Given the description of an element on the screen output the (x, y) to click on. 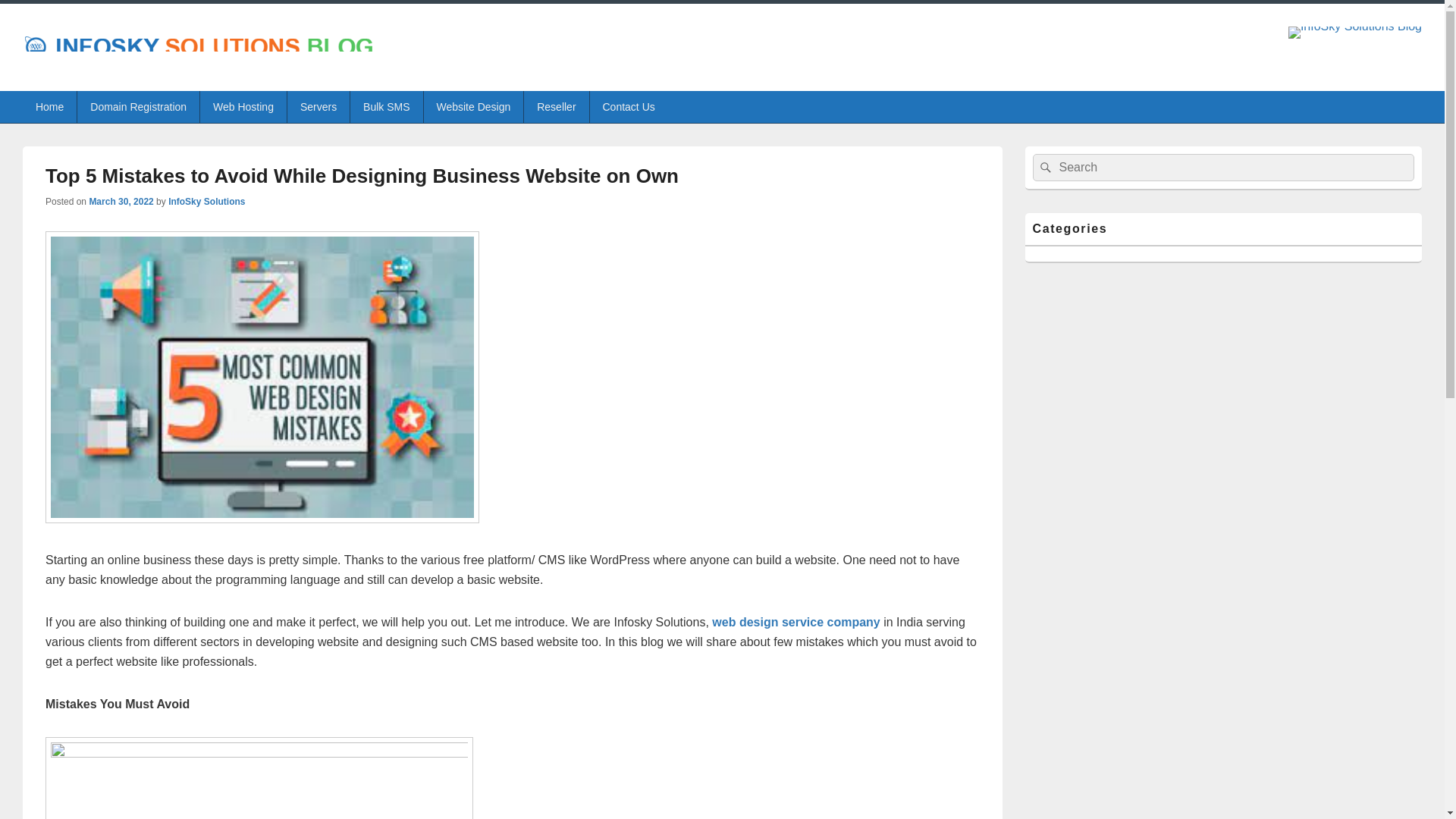
Web Hosting (243, 106)
Bulk SMS (386, 106)
5:30 am (120, 201)
Servers (317, 106)
Reseller (556, 106)
View all posts by InfoSky Solutions (206, 201)
Contact Us (628, 106)
InfoSky Solutions (206, 201)
Website Design (472, 106)
Home (50, 106)
Search for: (1223, 166)
March 30, 2022 (120, 201)
web design service company (795, 621)
Domain Registration (138, 106)
